Given the description of an element on the screen output the (x, y) to click on. 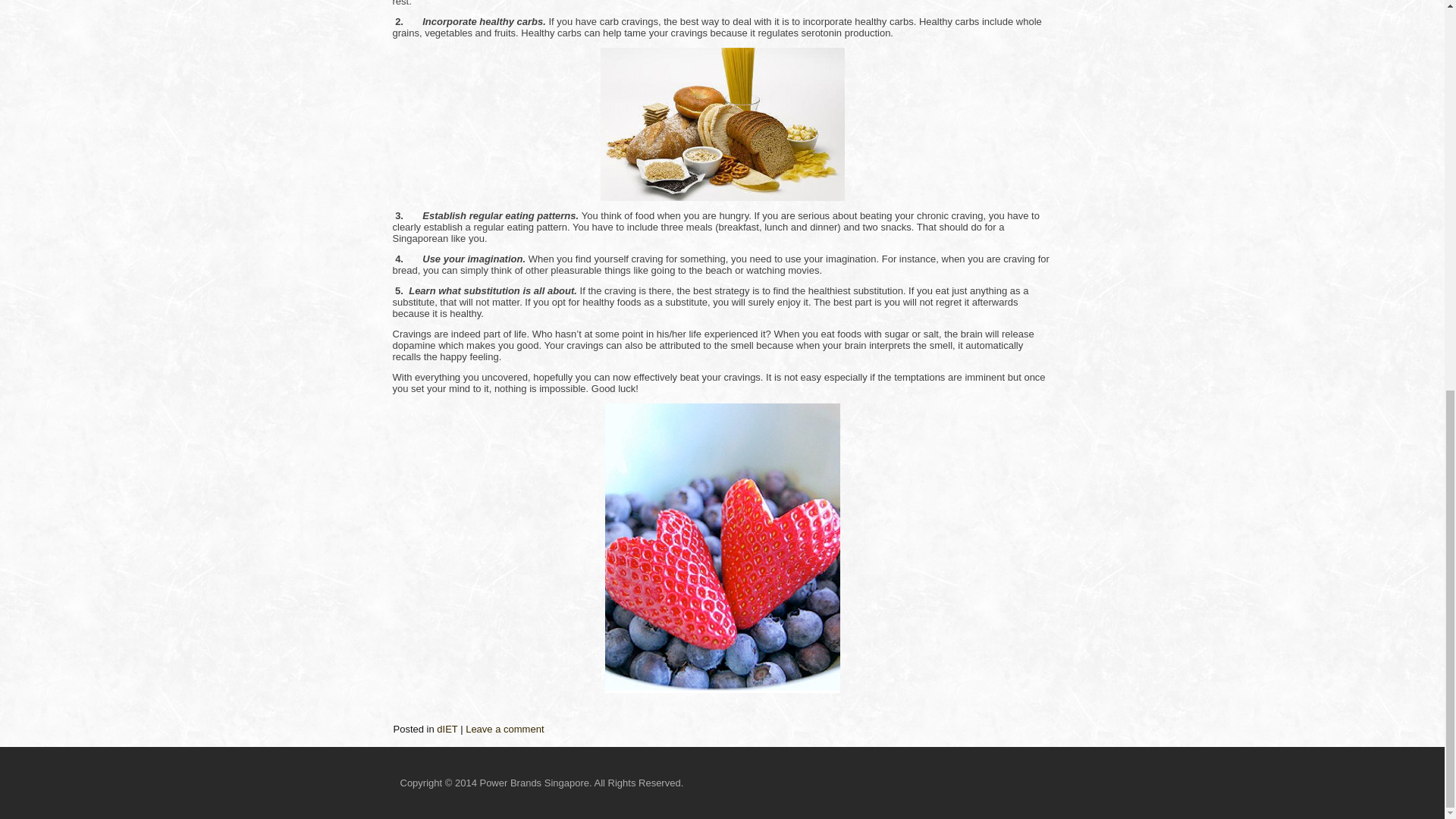
Leave a comment (504, 728)
dIET (446, 728)
